Given the description of an element on the screen output the (x, y) to click on. 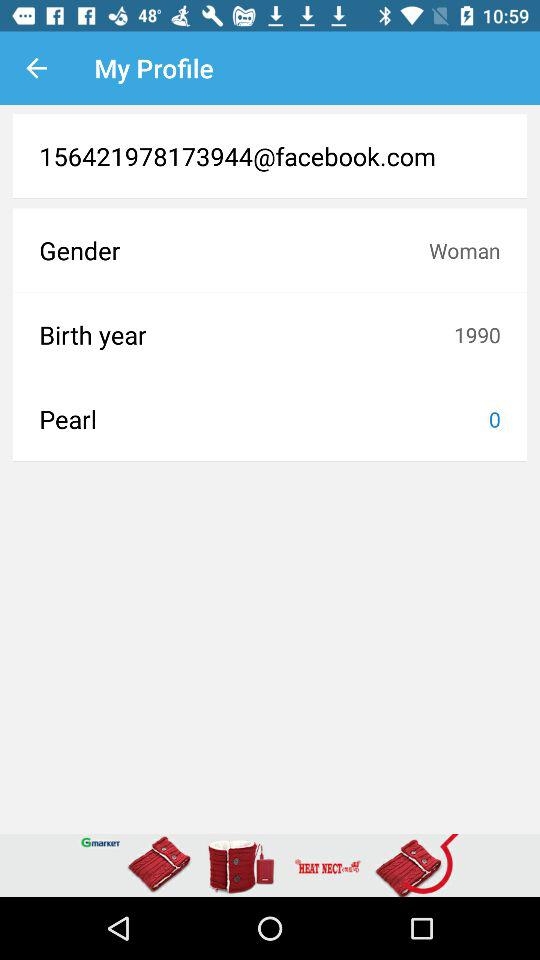
select the item above the gender icon (269, 203)
